Given the description of an element on the screen output the (x, y) to click on. 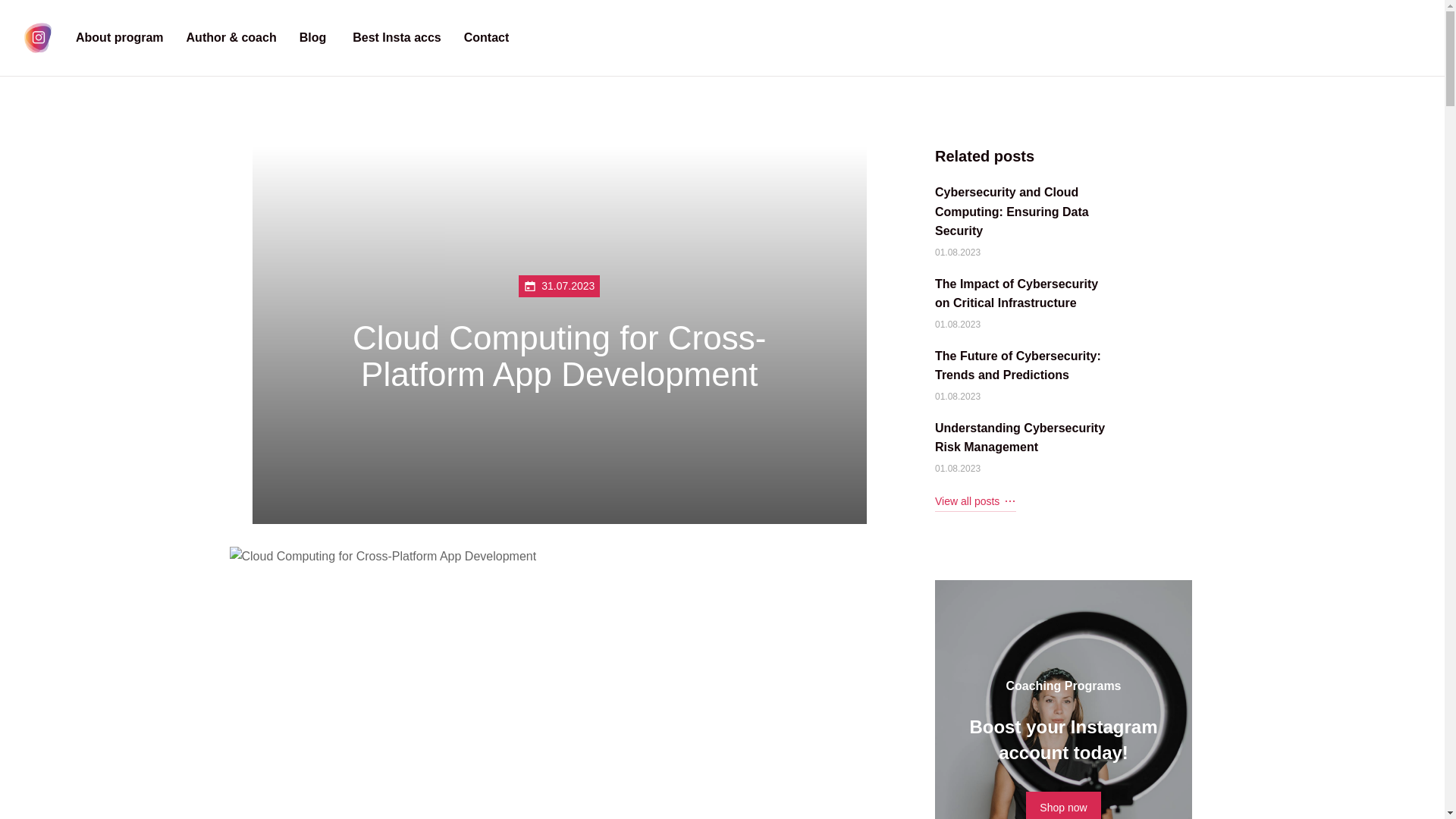
Cybersecurity and Cloud Computing: Ensuring Data Security (1025, 211)
About program (119, 37)
Cybersecurity and Cloud Computing: Ensuring Data Security (1025, 211)
Best Insta accs (395, 37)
The Future of Cybersecurity: Trends and Predictions (1025, 365)
The Impact of Cybersecurity on Critical Infrastructure (1025, 293)
Blog (312, 37)
Understanding Cybersecurity Risk Management (1025, 437)
View all posts (975, 500)
Shop now (1063, 805)
The Future of Cybersecurity: Trends and Predictions (1025, 365)
Contact (486, 37)
The Impact of Cybersecurity on Critical Infrastructure (1025, 293)
Understanding Cybersecurity Risk Management (1025, 437)
